Given the description of an element on the screen output the (x, y) to click on. 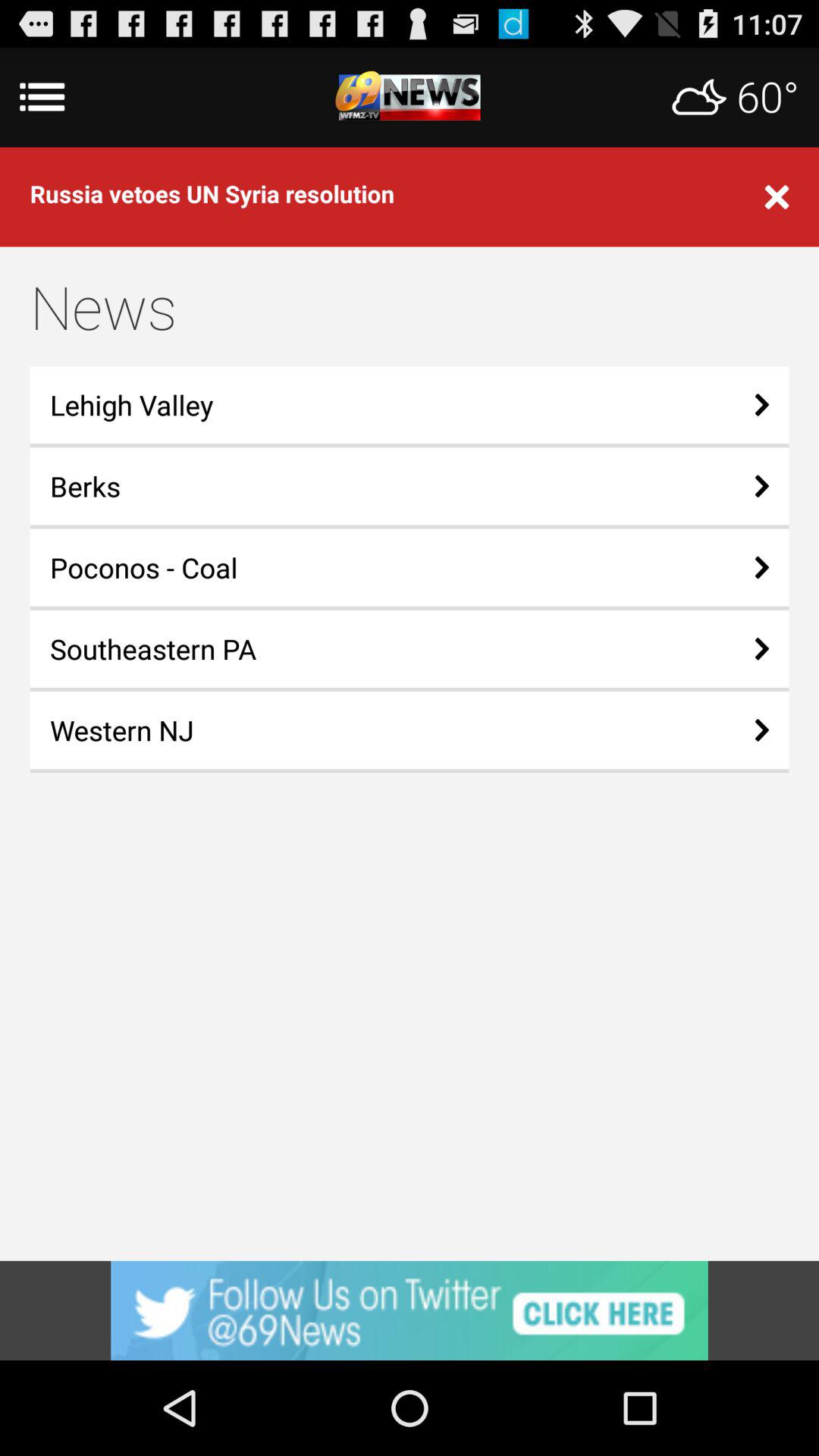
go to main meanu (409, 97)
